Given the description of an element on the screen output the (x, y) to click on. 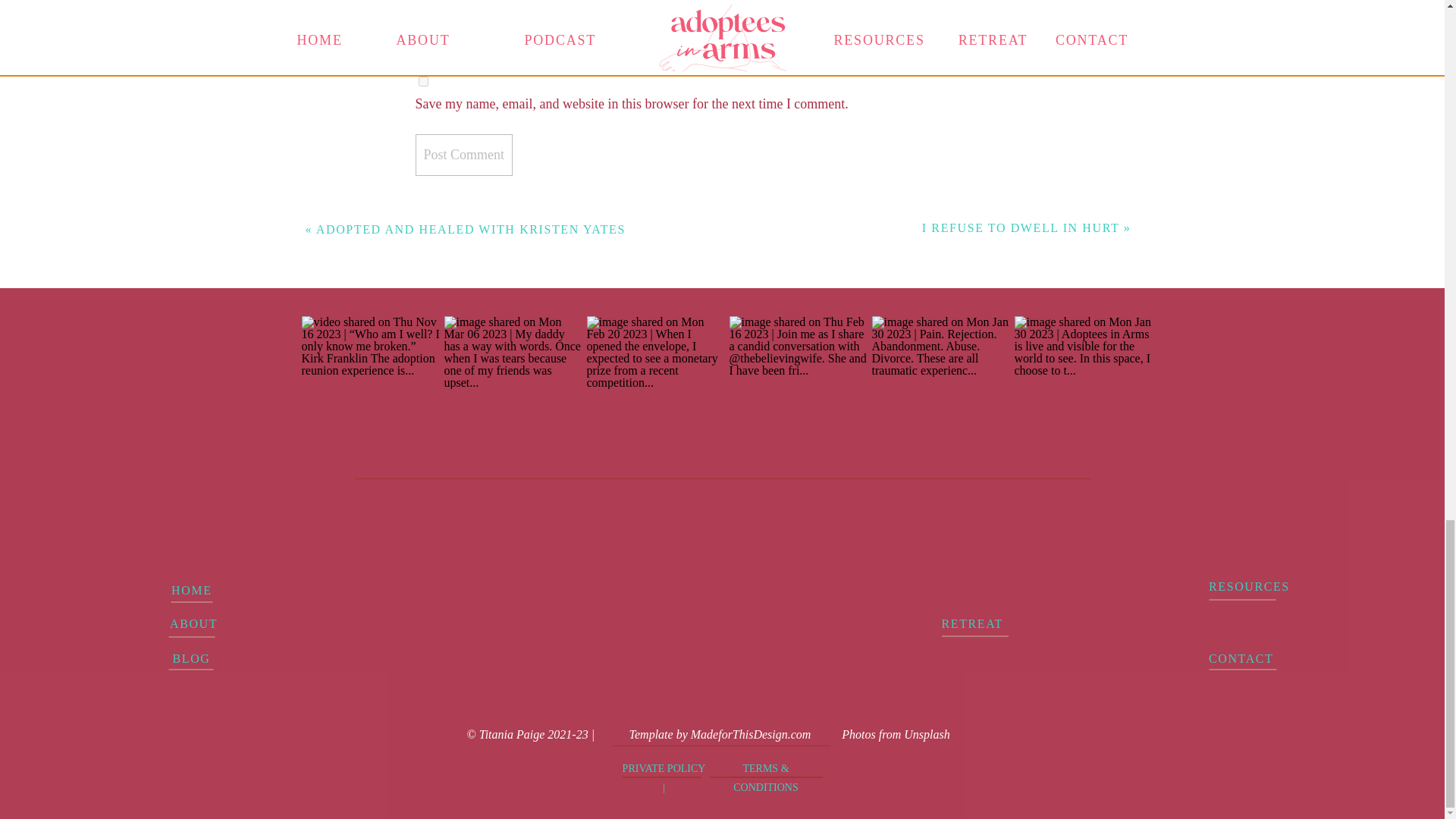
Photos from Unsplash (895, 732)
I REFUSE TO DWELL IN HURT (1020, 227)
Template by MadeforThisDesign.com (720, 732)
ADOPTED AND HEALED WITH KRISTEN YATES (470, 228)
yes (423, 81)
CONTACT (1247, 658)
RESOURCES (1235, 586)
RETREAT (989, 623)
Post Comment (463, 154)
Post Comment (463, 154)
HOME (191, 589)
ABOUT (191, 623)
BLOG (191, 658)
